Given the description of an element on the screen output the (x, y) to click on. 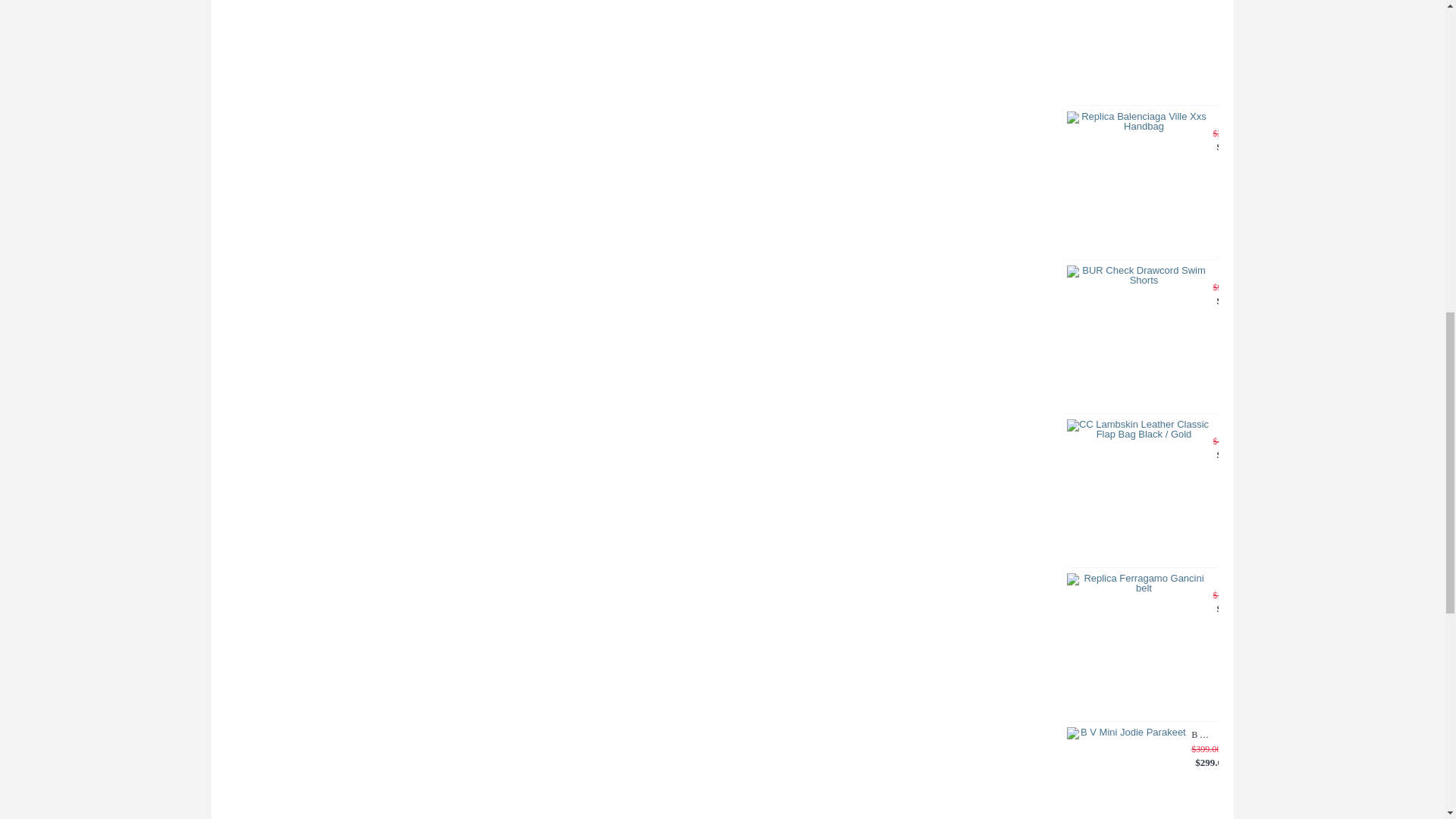
Ferragamo adjustable Gancini belt  (1136, 644)
Amiri Leather Stitch Logo Jean Clay Indigo (1136, 49)
B V Mini Jodie Parakeet (1126, 773)
Balenciaga Women's Ville Xxs Handbag (1136, 182)
BUR Check Drawcord Swim Shorts (1136, 336)
